Given the description of an element on the screen output the (x, y) to click on. 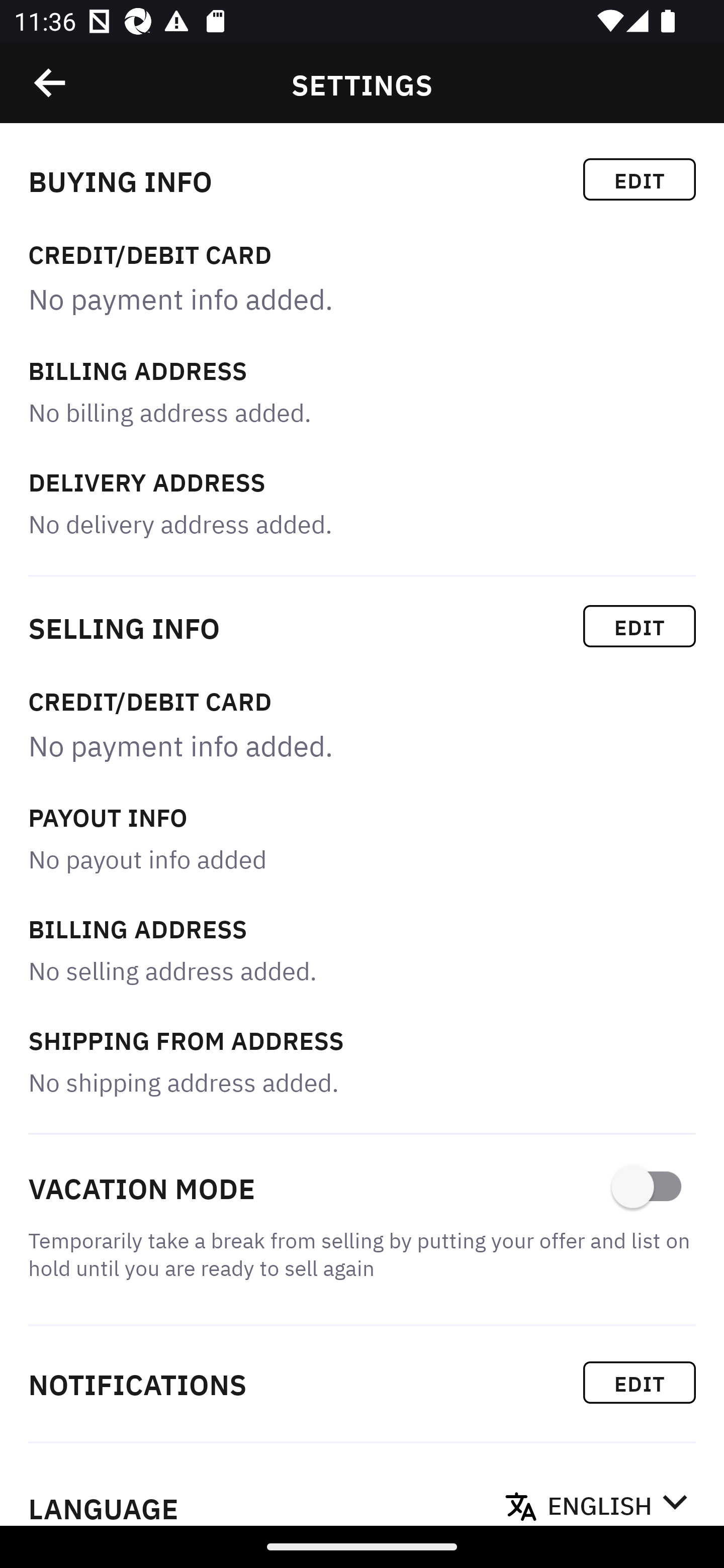
 (50, 83)
EDIT (639, 179)
EDIT (639, 626)
EDIT (639, 1382)
ENGLISH  (617, 1499)
